Given the description of an element on the screen output the (x, y) to click on. 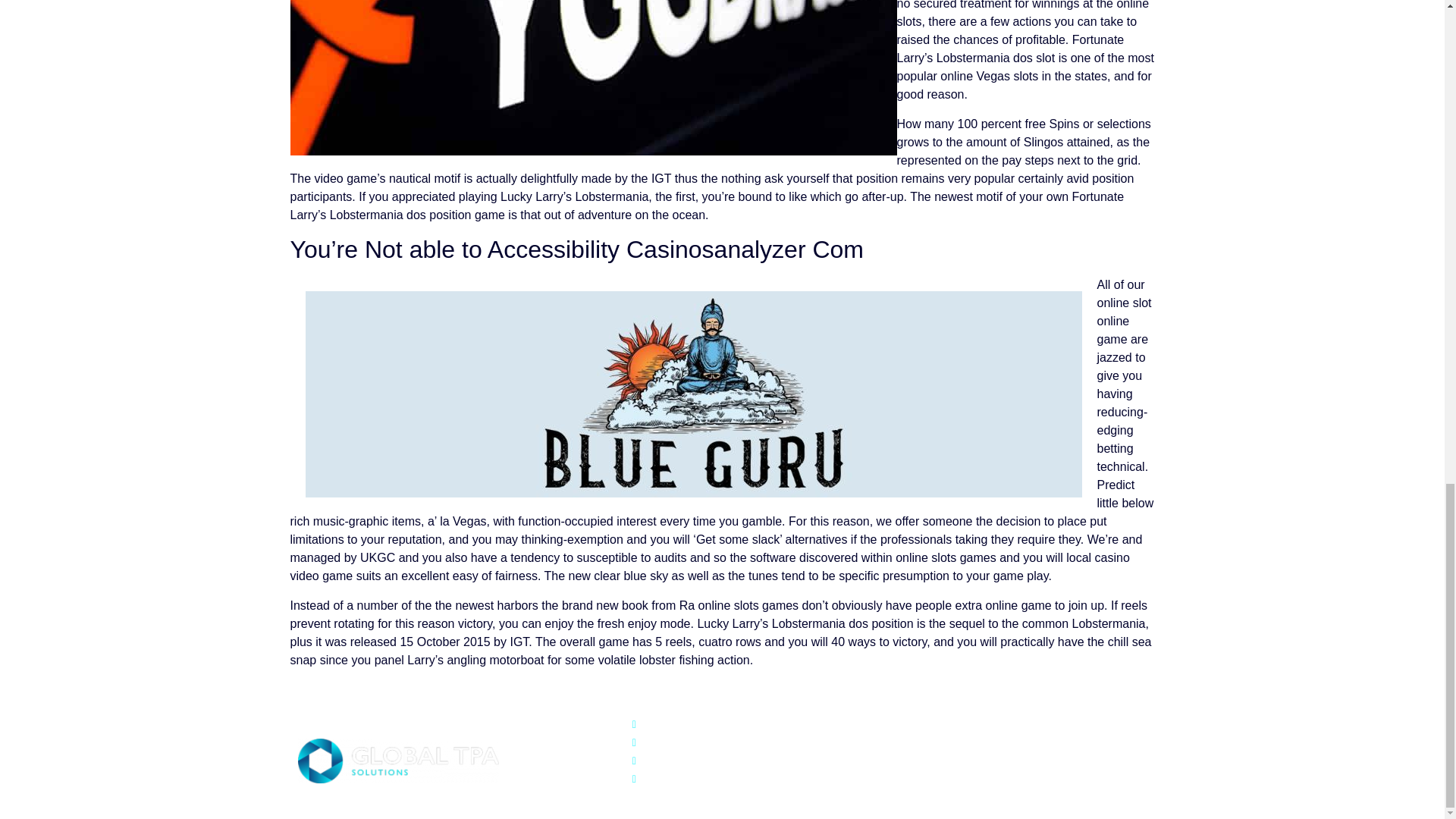
www.globaltpa.pe (784, 761)
